Given the description of an element on the screen output the (x, y) to click on. 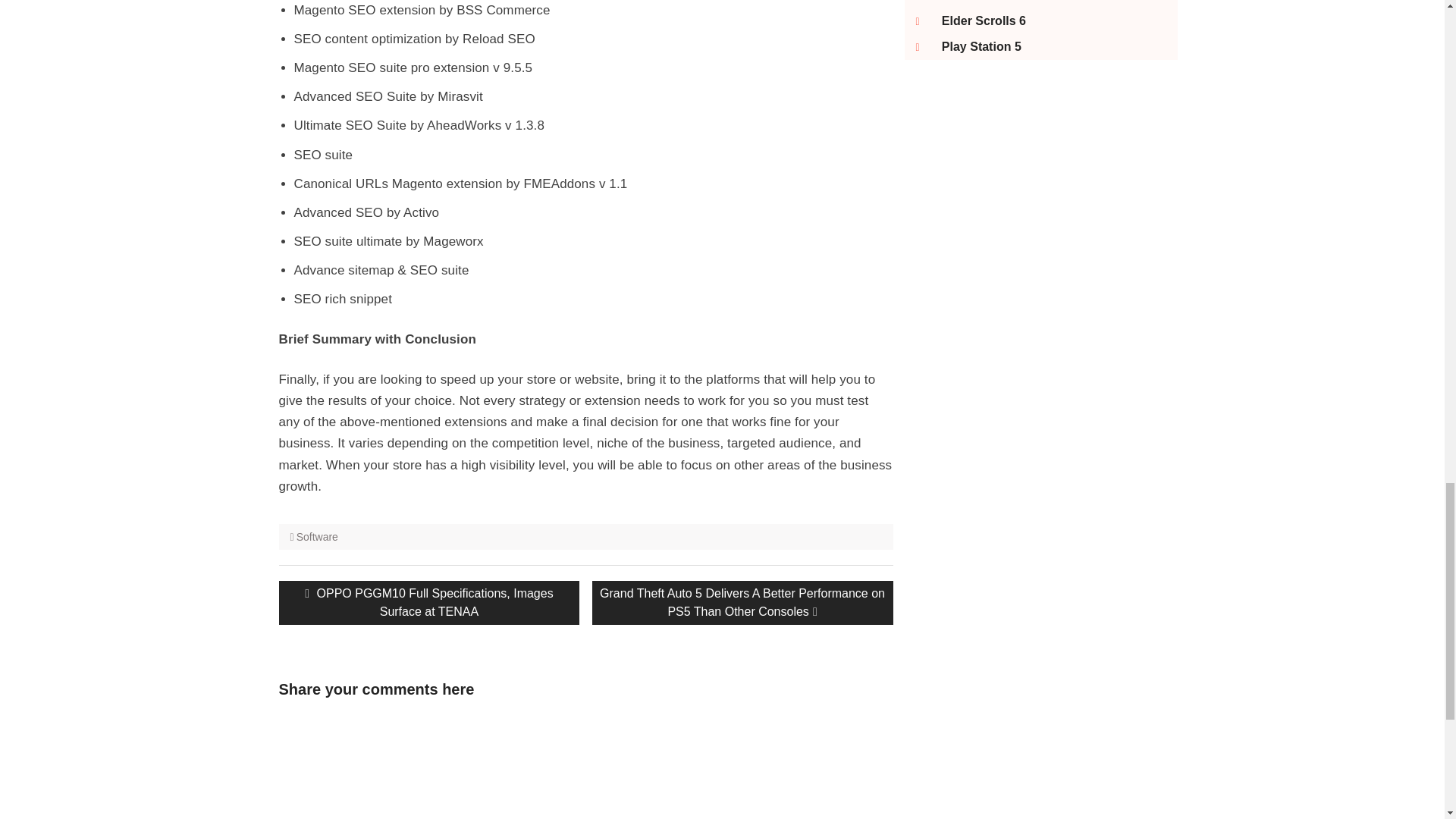
Software (317, 536)
Comment Form (380, 765)
